Given the description of an element on the screen output the (x, y) to click on. 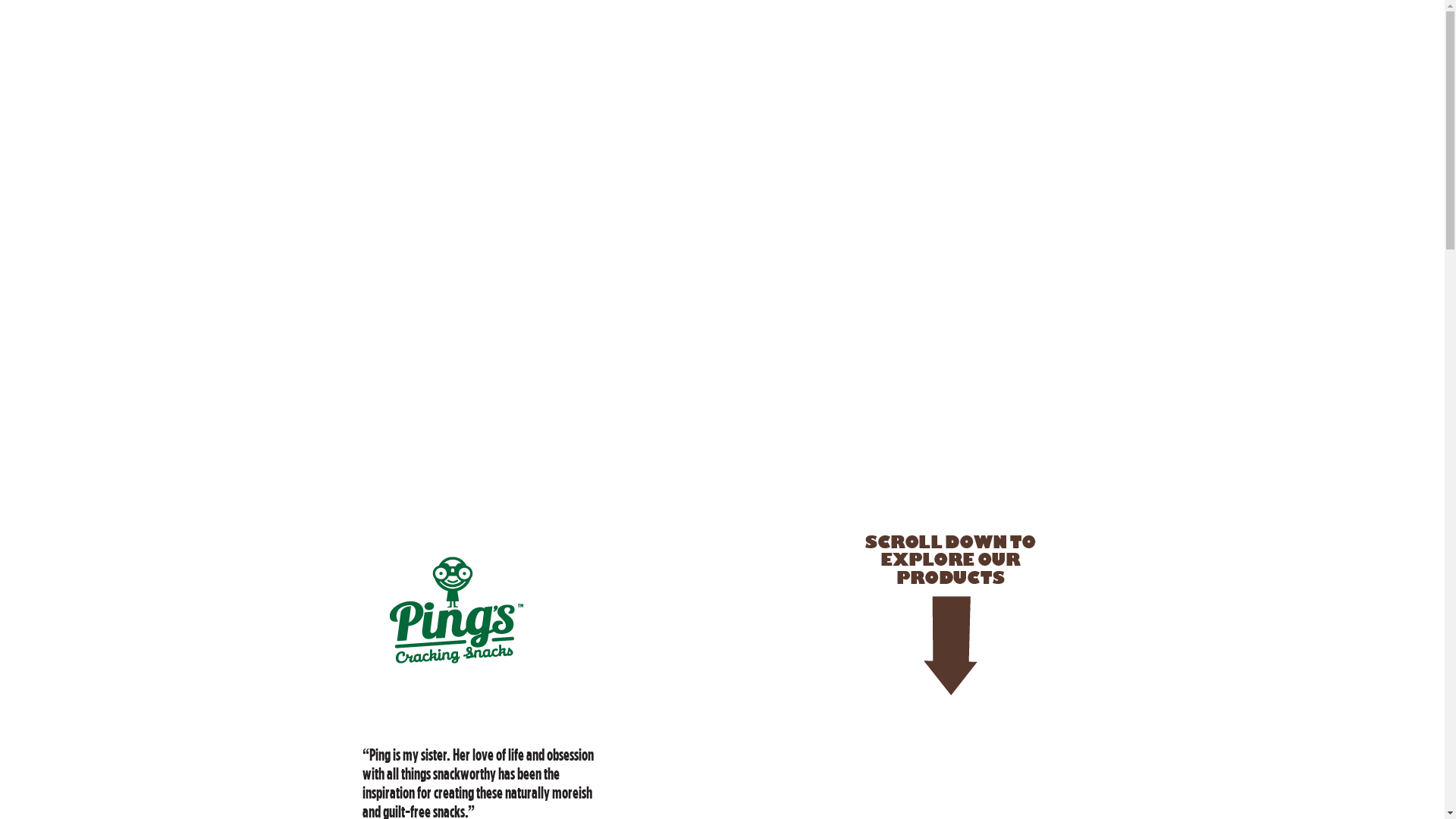
Ping's Cracking Snacks Element type: text (456, 609)
pinterest Element type: text (528, 243)
Didi's Food Adventures Element type: text (721, 173)
twitter Element type: text (493, 243)
